Given the description of an element on the screen output the (x, y) to click on. 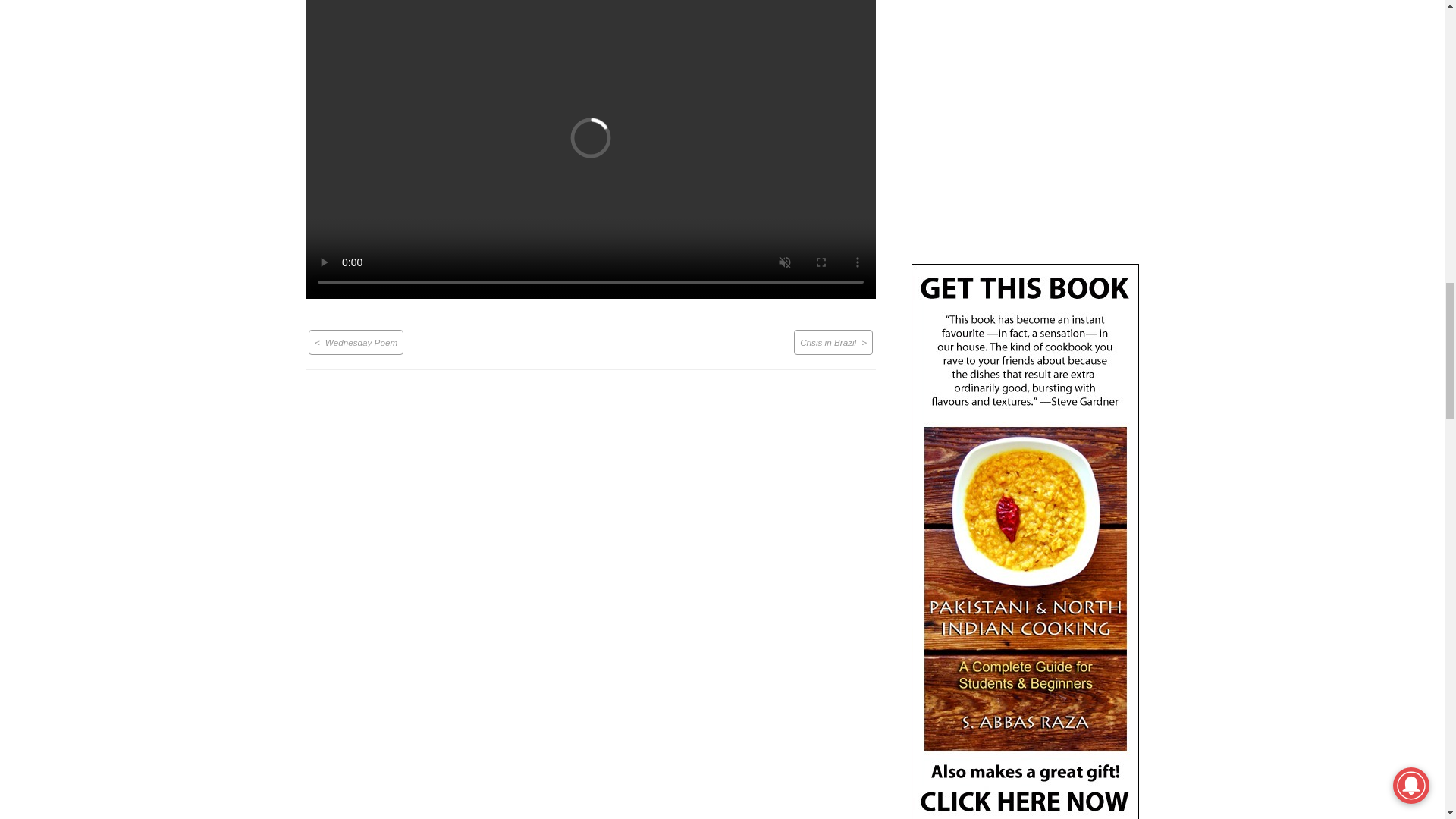
3rd party ad content (1024, 125)
Wednesday Poem (355, 342)
Crisis in Brazil (832, 342)
